Given the description of an element on the screen output the (x, y) to click on. 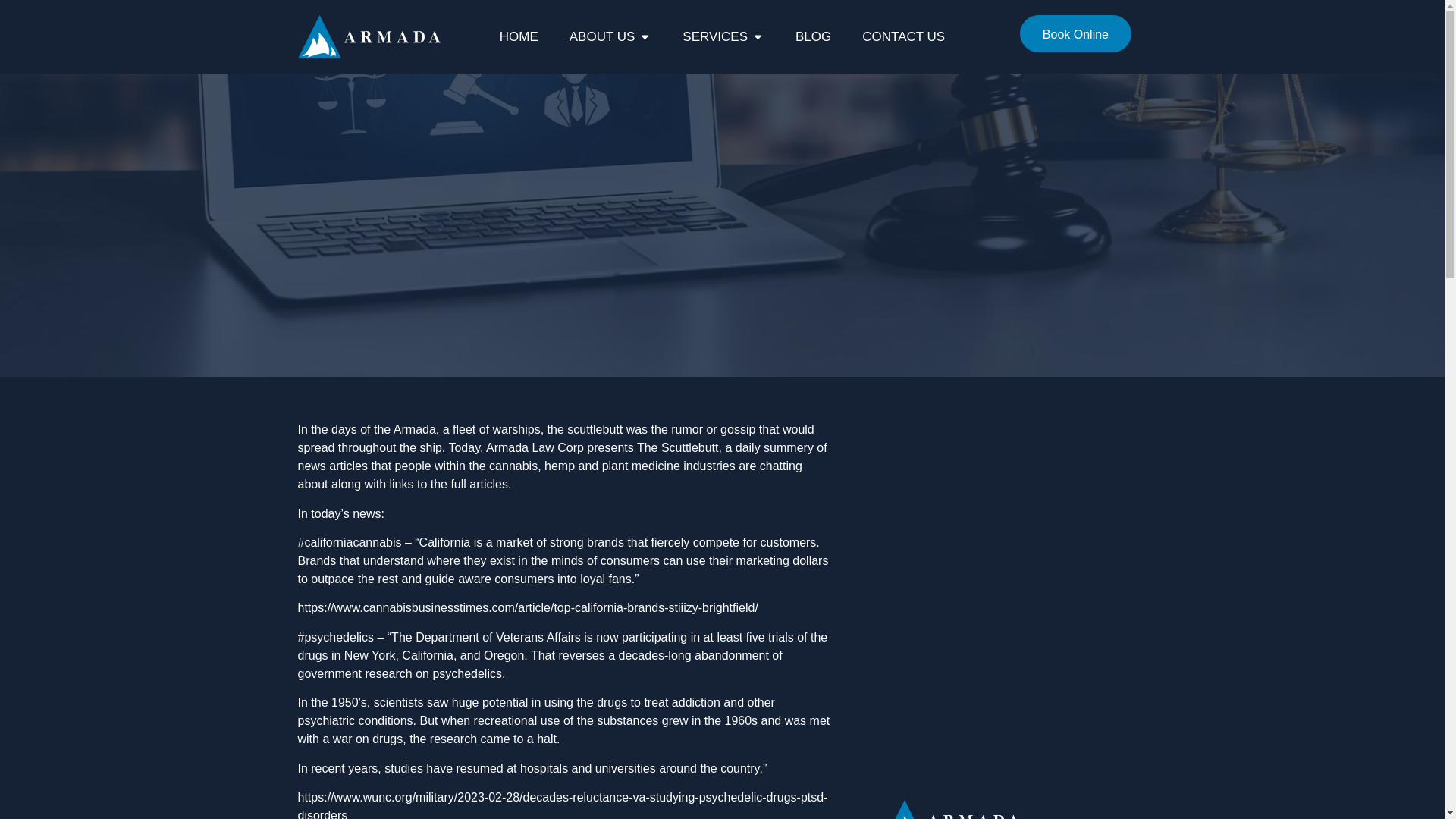
CONTACT US (902, 37)
HOME (518, 37)
BLOG (812, 37)
ABOUT US (601, 37)
Book Online (1075, 33)
SERVICES (715, 37)
